Given the description of an element on the screen output the (x, y) to click on. 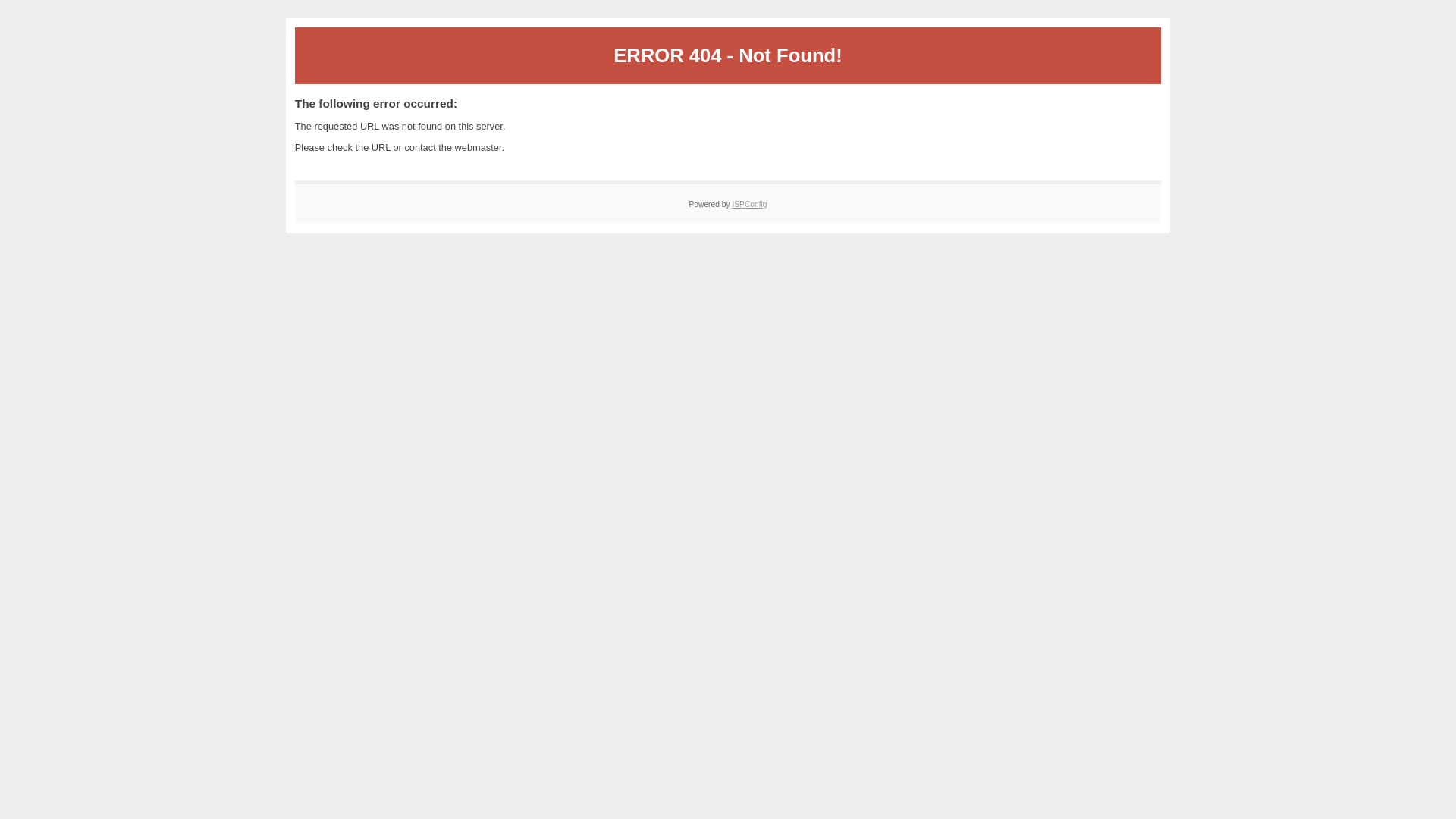
ISPConfig Element type: text (748, 204)
